Given the description of an element on the screen output the (x, y) to click on. 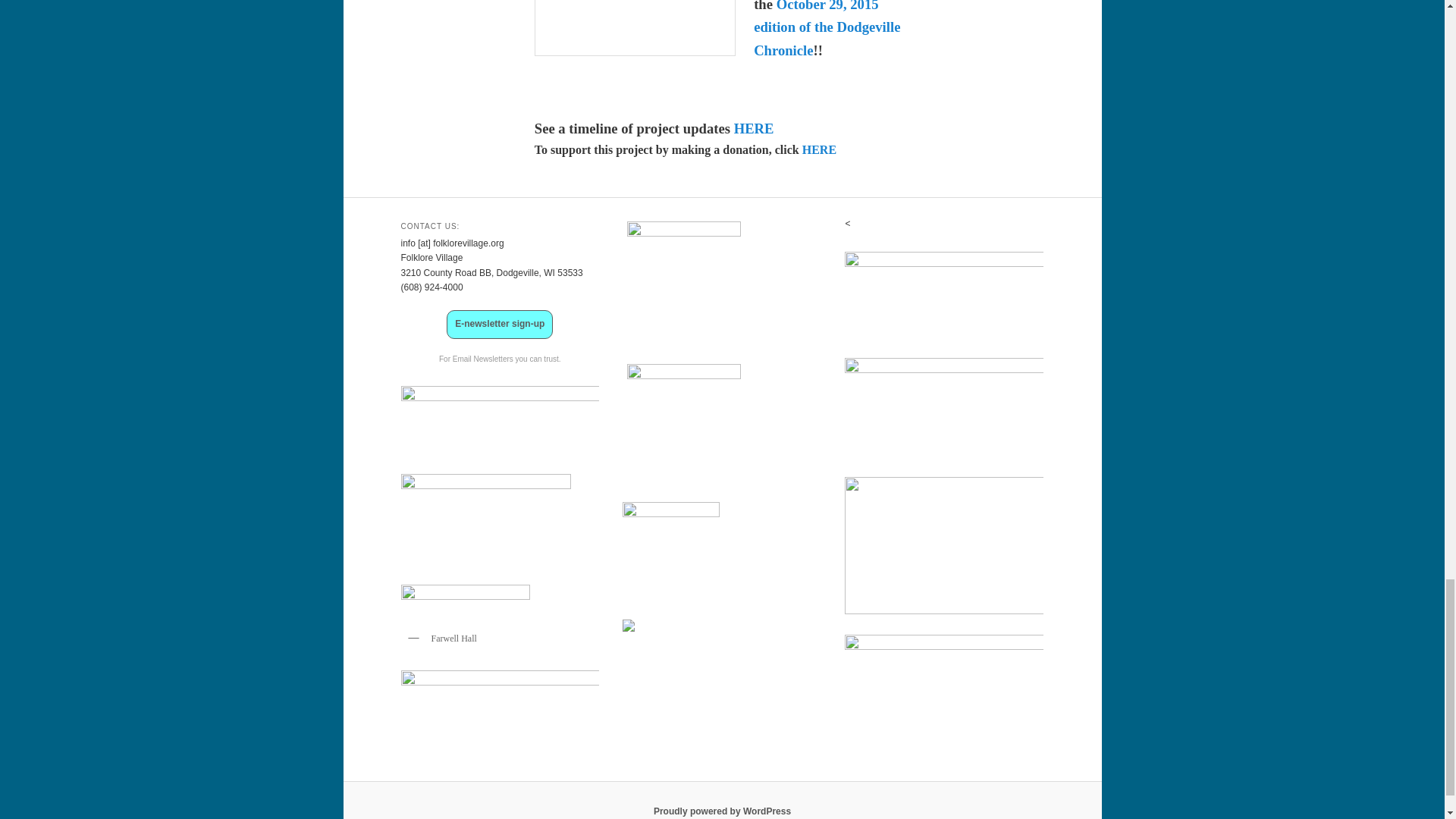
Semantic Personal Publishing Platform (721, 810)
